Given the description of an element on the screen output the (x, y) to click on. 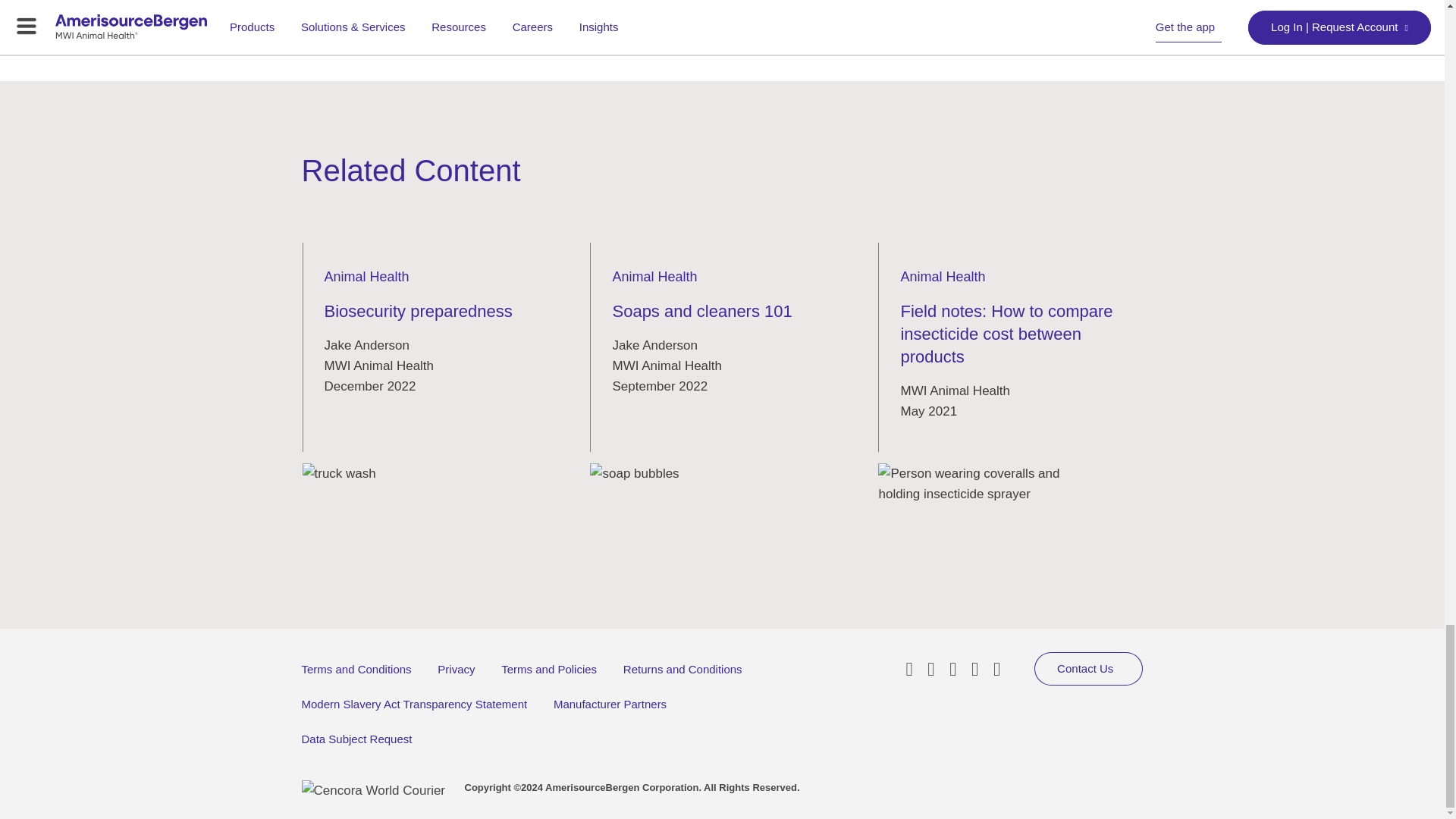
Data Subject Request (356, 738)
